Given the description of an element on the screen output the (x, y) to click on. 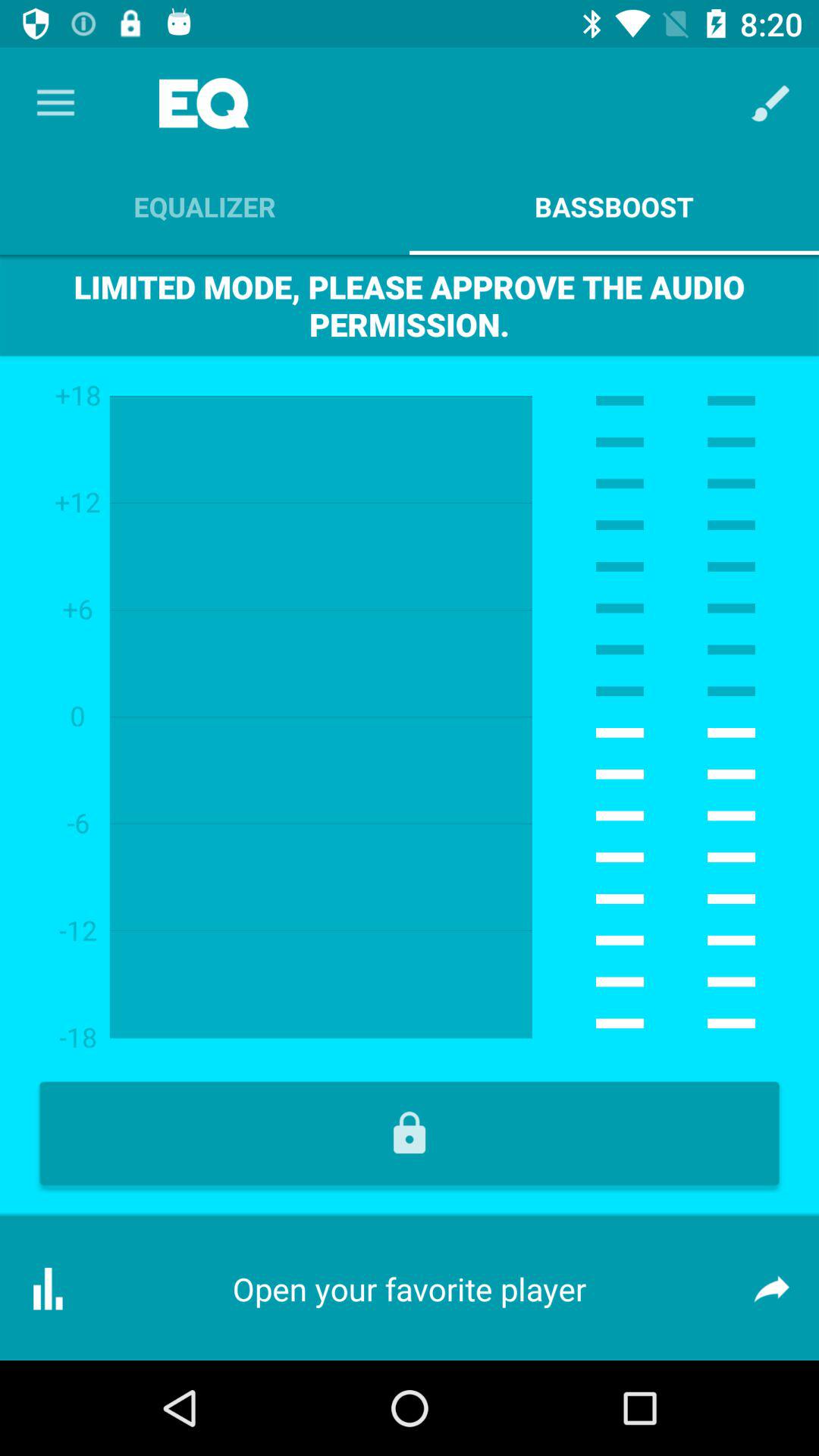
open app below equalizer item (409, 305)
